Given the description of an element on the screen output the (x, y) to click on. 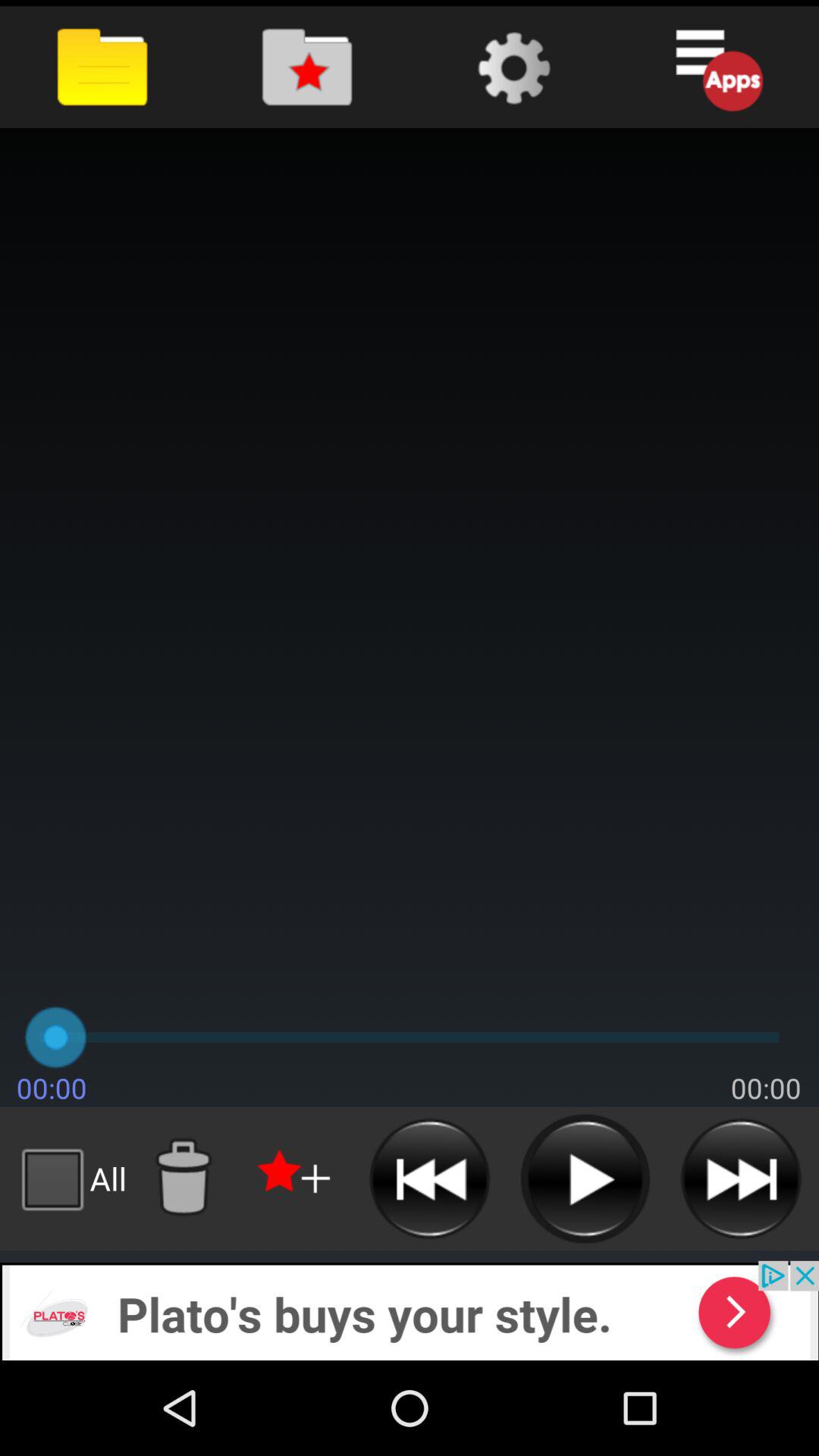
view menu (716, 66)
